Given the description of an element on the screen output the (x, y) to click on. 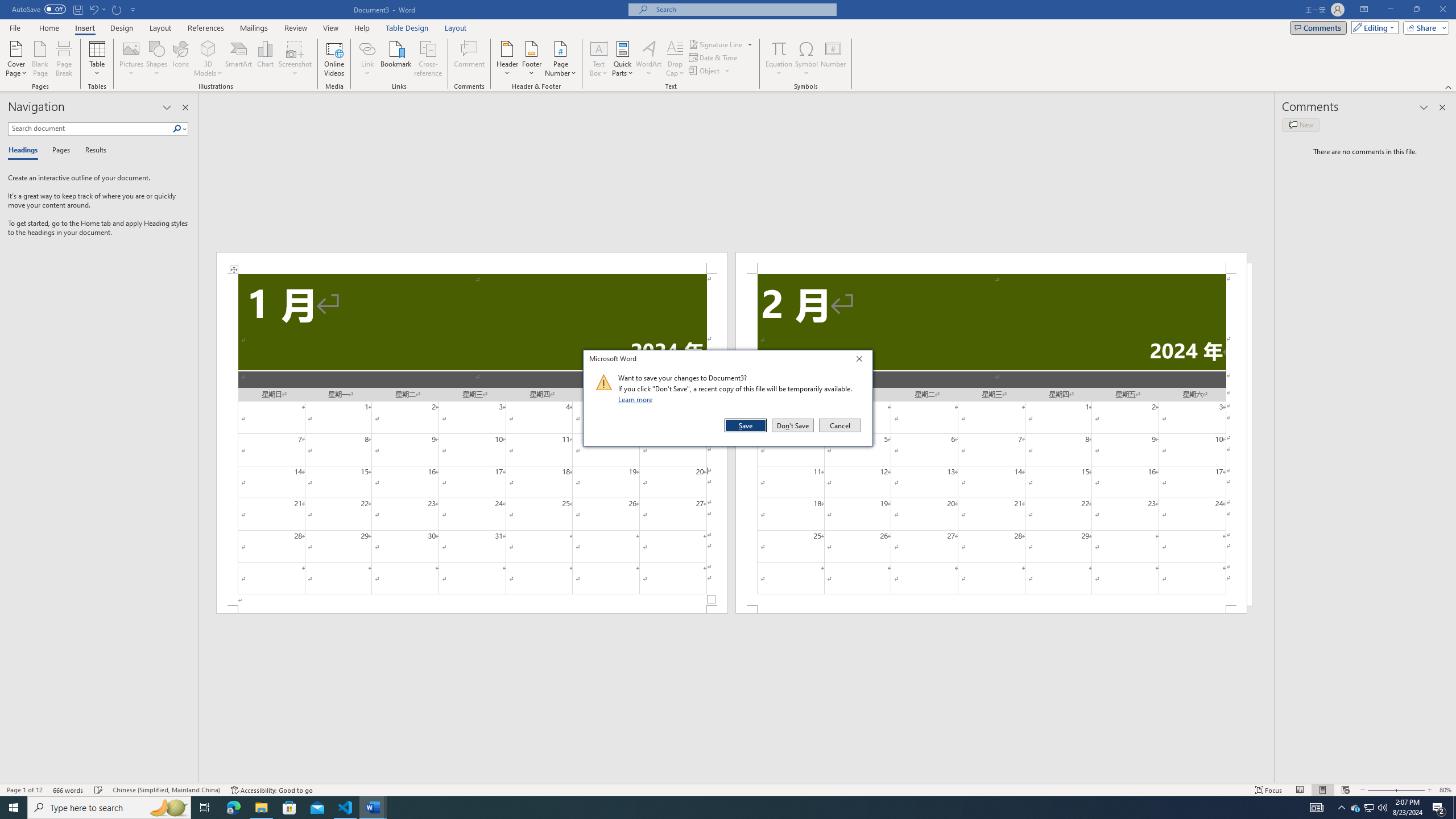
Footer (531, 58)
Cross-reference... (428, 58)
Footer -Section 2- (991, 609)
Don't Save (792, 425)
